Given the description of an element on the screen output the (x, y) to click on. 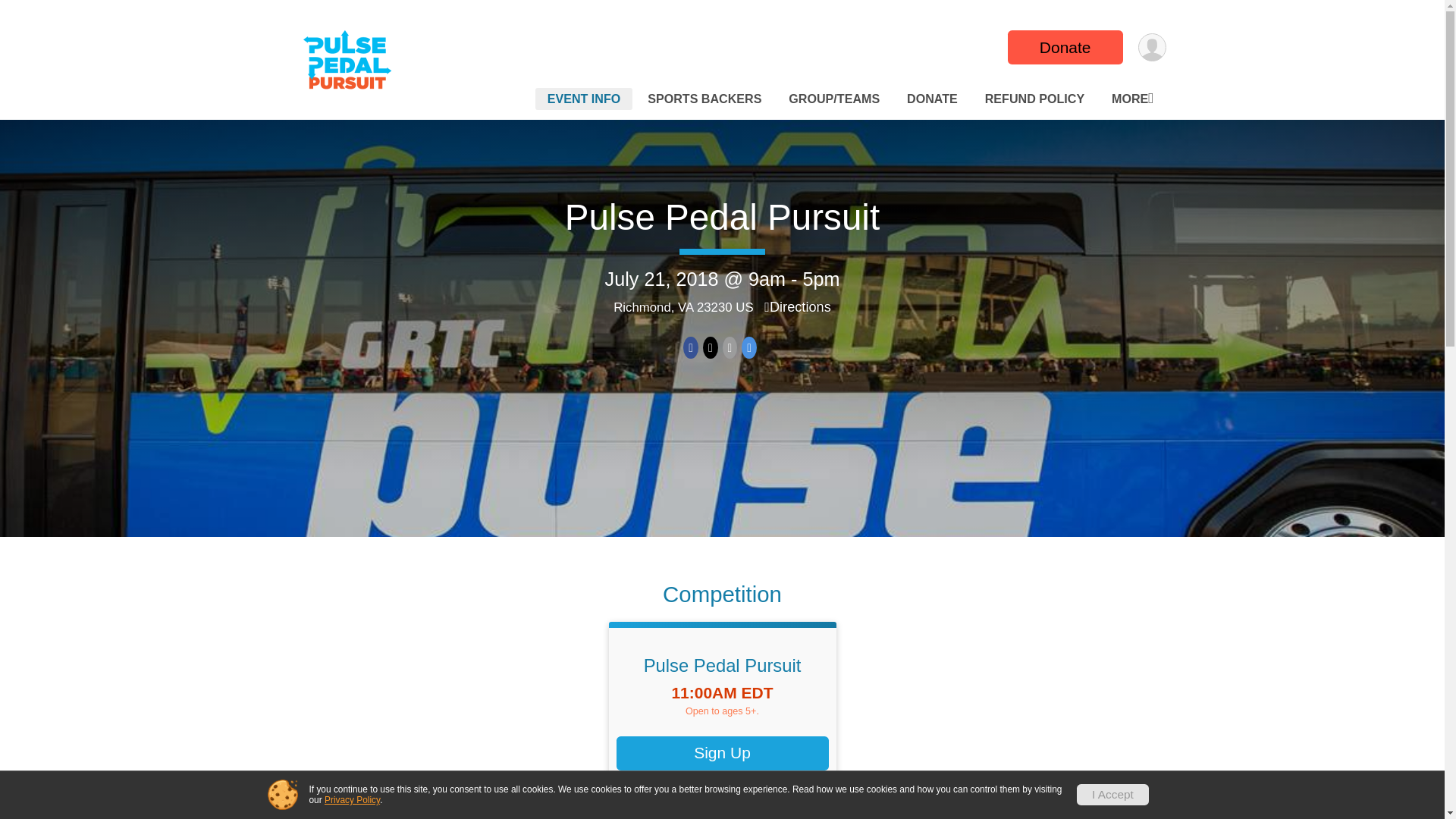
Pulse Pedal Pursuit (721, 217)
EVENT INFO (584, 98)
Directions (797, 306)
Pulse Pedal Pursuit (722, 665)
DONATE (932, 98)
MORE (1131, 98)
Donate (1064, 47)
Sign Up (721, 753)
SPORTS BACKERS (704, 98)
REFUND POLICY (1034, 98)
